Given the description of an element on the screen output the (x, y) to click on. 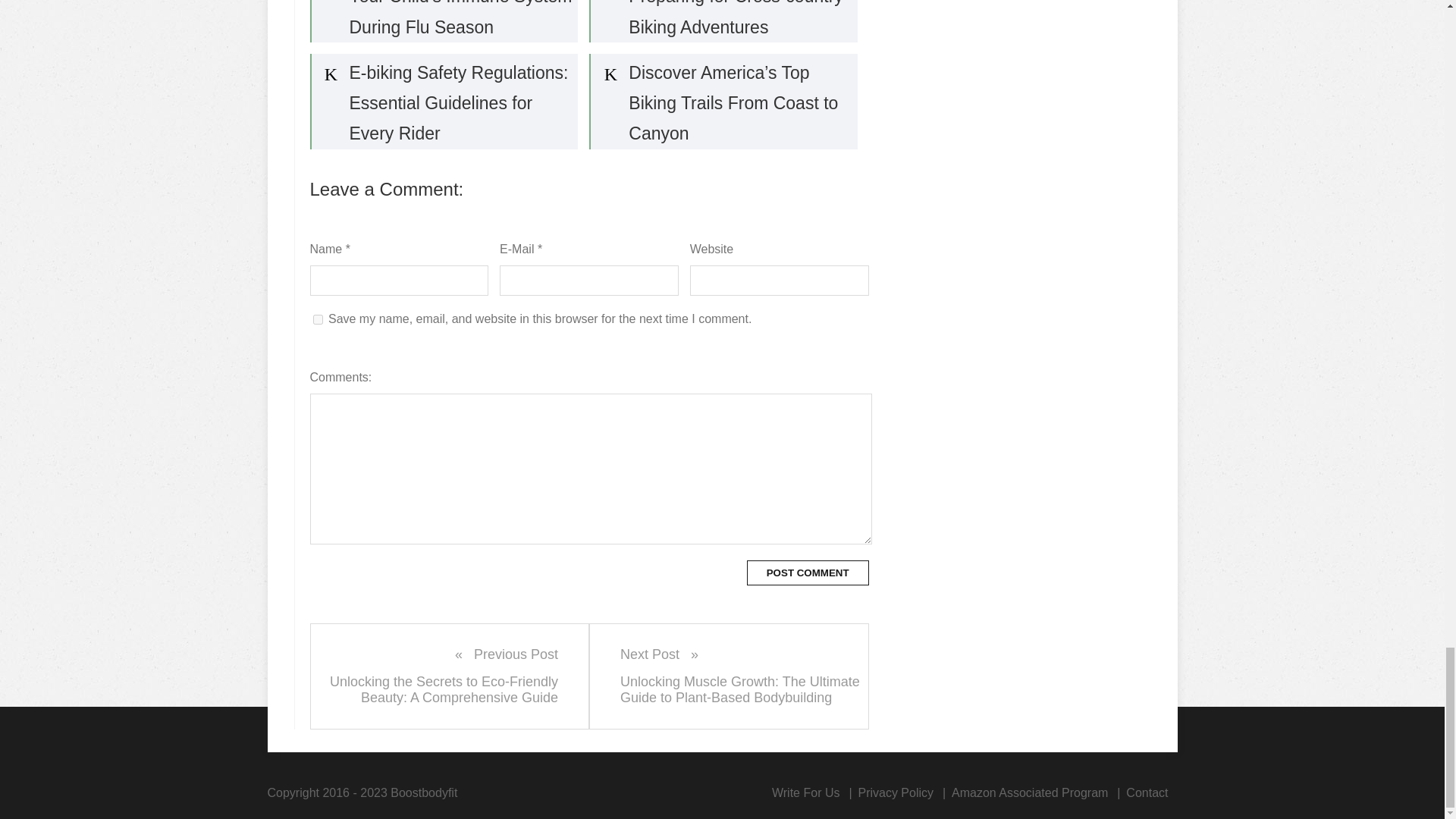
Write For Us (805, 792)
Privacy Policy (895, 792)
Post Comment (807, 572)
Post Comment (807, 572)
Amazon Associated Program (1030, 792)
yes (317, 319)
